Given the description of an element on the screen output the (x, y) to click on. 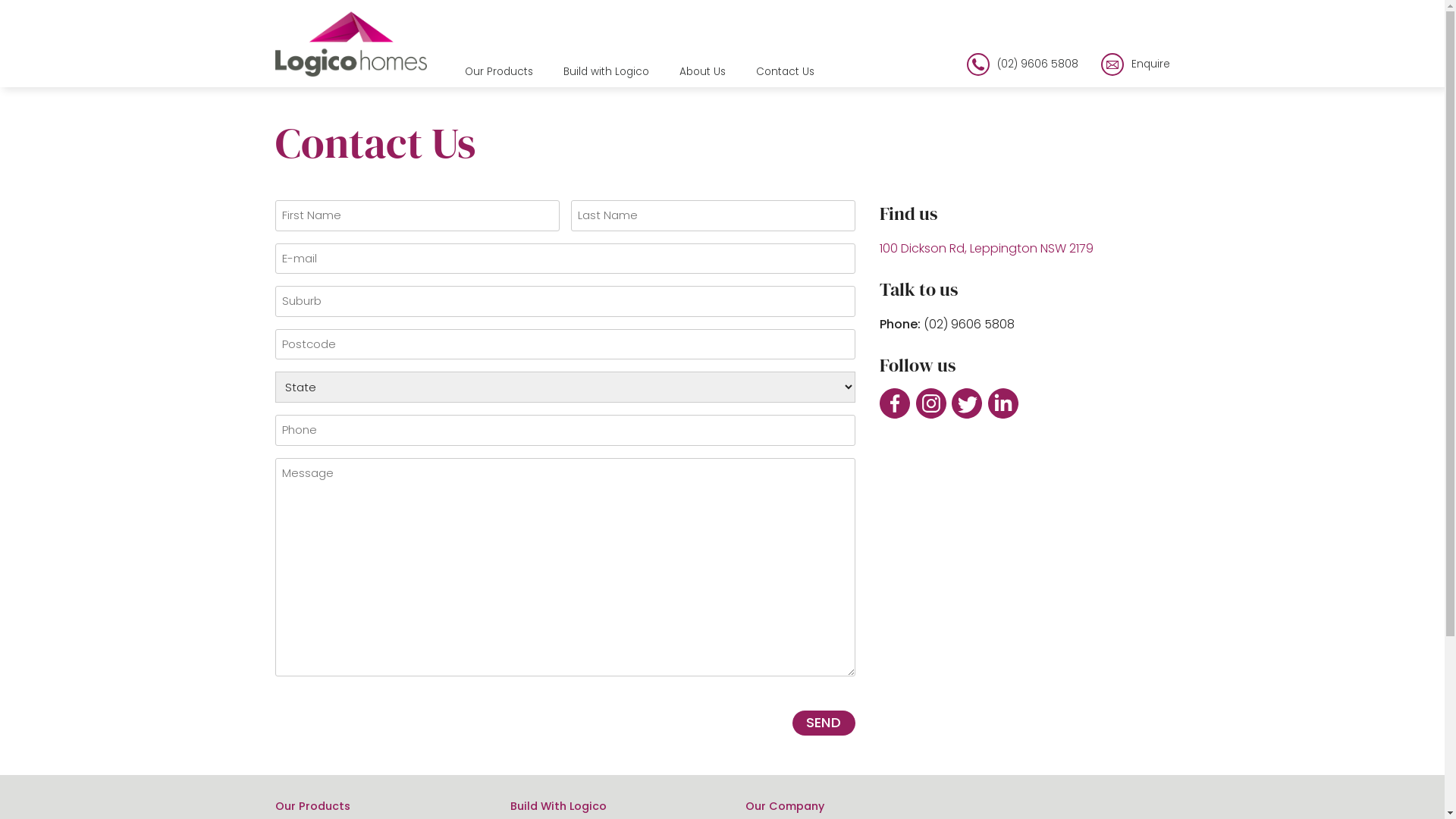
Enquire Element type: text (1135, 64)
Contact Us Element type: text (784, 71)
100 Dickson Rd, Leppington NSW 2179 Element type: text (986, 248)
(02) 9606 5808 Element type: text (1021, 64)
Build with Logico Element type: text (605, 71)
Our Products Element type: text (497, 71)
Send Element type: text (823, 722)
About Us Element type: text (702, 71)
